Given the description of an element on the screen output the (x, y) to click on. 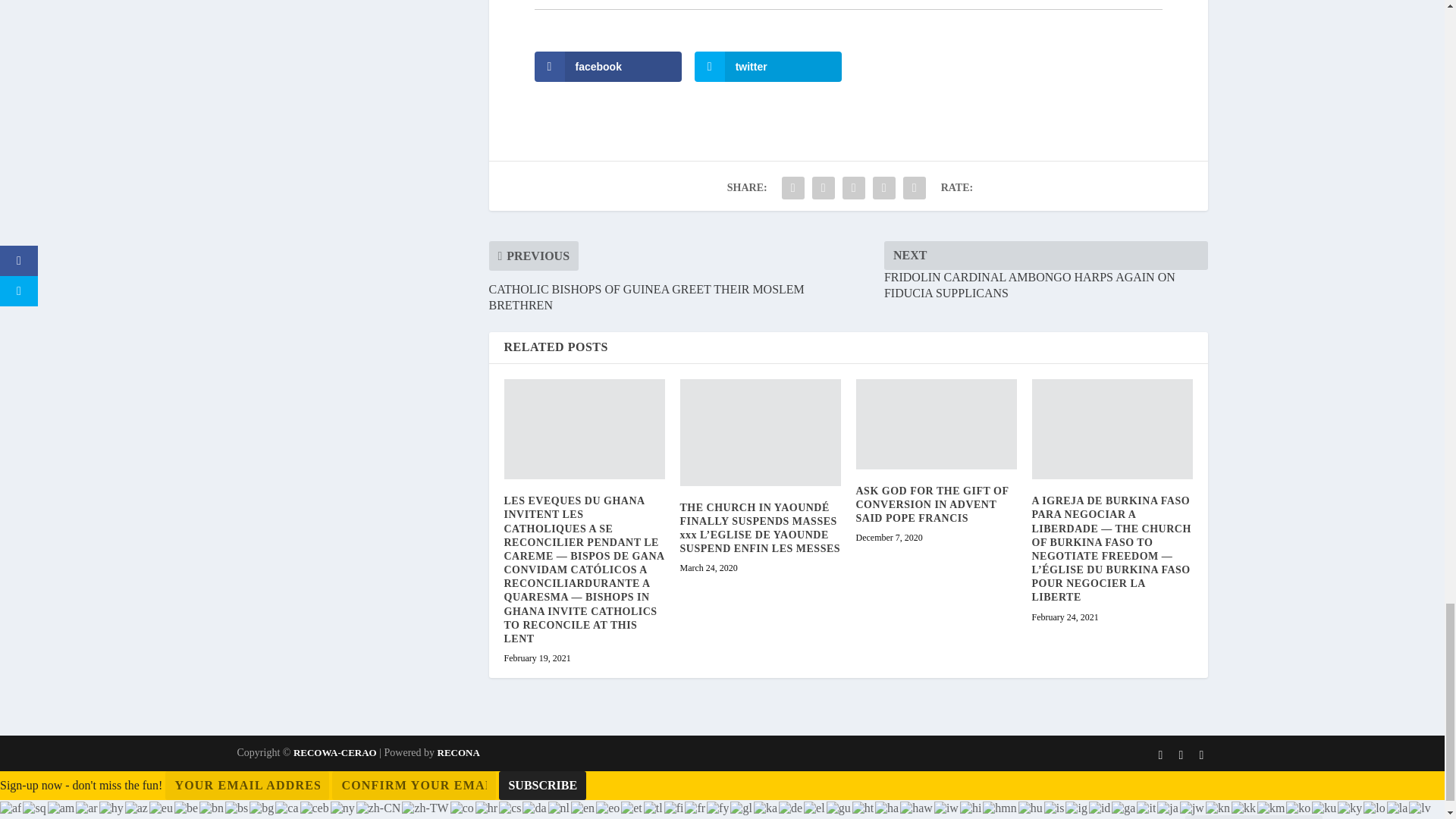
twitter (768, 66)
Subscribe (542, 785)
facebook (607, 66)
